Given the description of an element on the screen output the (x, y) to click on. 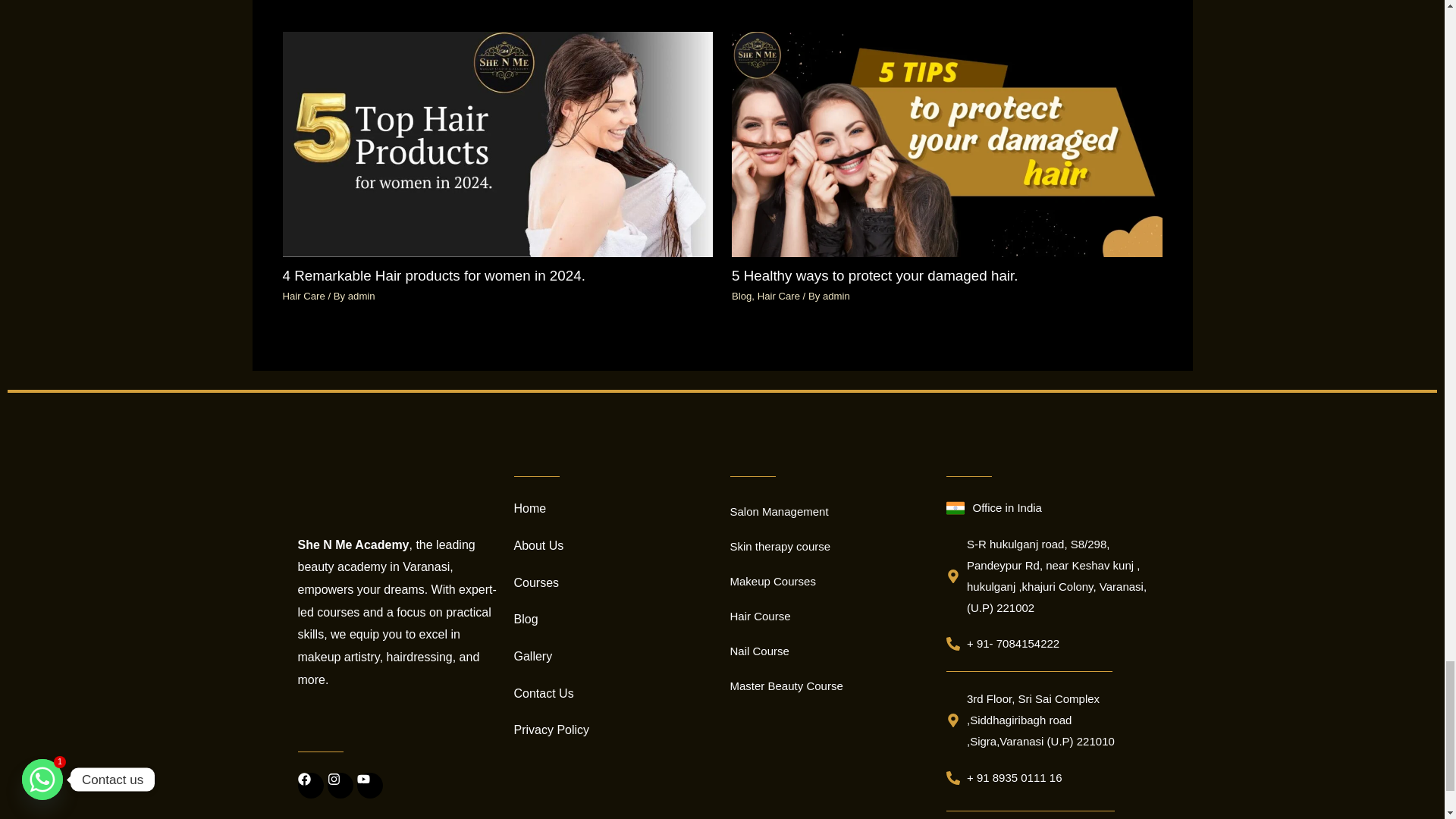
View all posts by admin (836, 296)
View all posts by admin (361, 296)
